Given the description of an element on the screen output the (x, y) to click on. 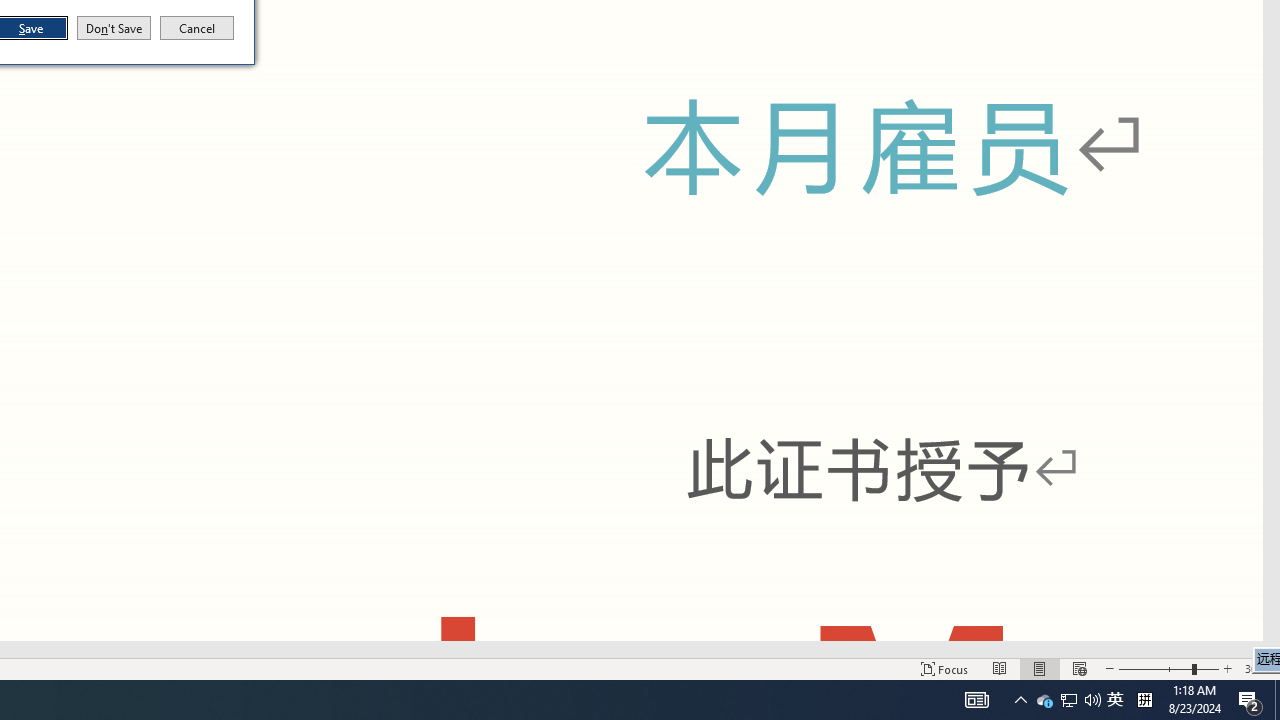
Q2790: 100% (1092, 699)
Focus  (944, 668)
Show desktop (1277, 699)
Don't Save (1115, 699)
AutomationID: 4105 (113, 27)
